Given the description of an element on the screen output the (x, y) to click on. 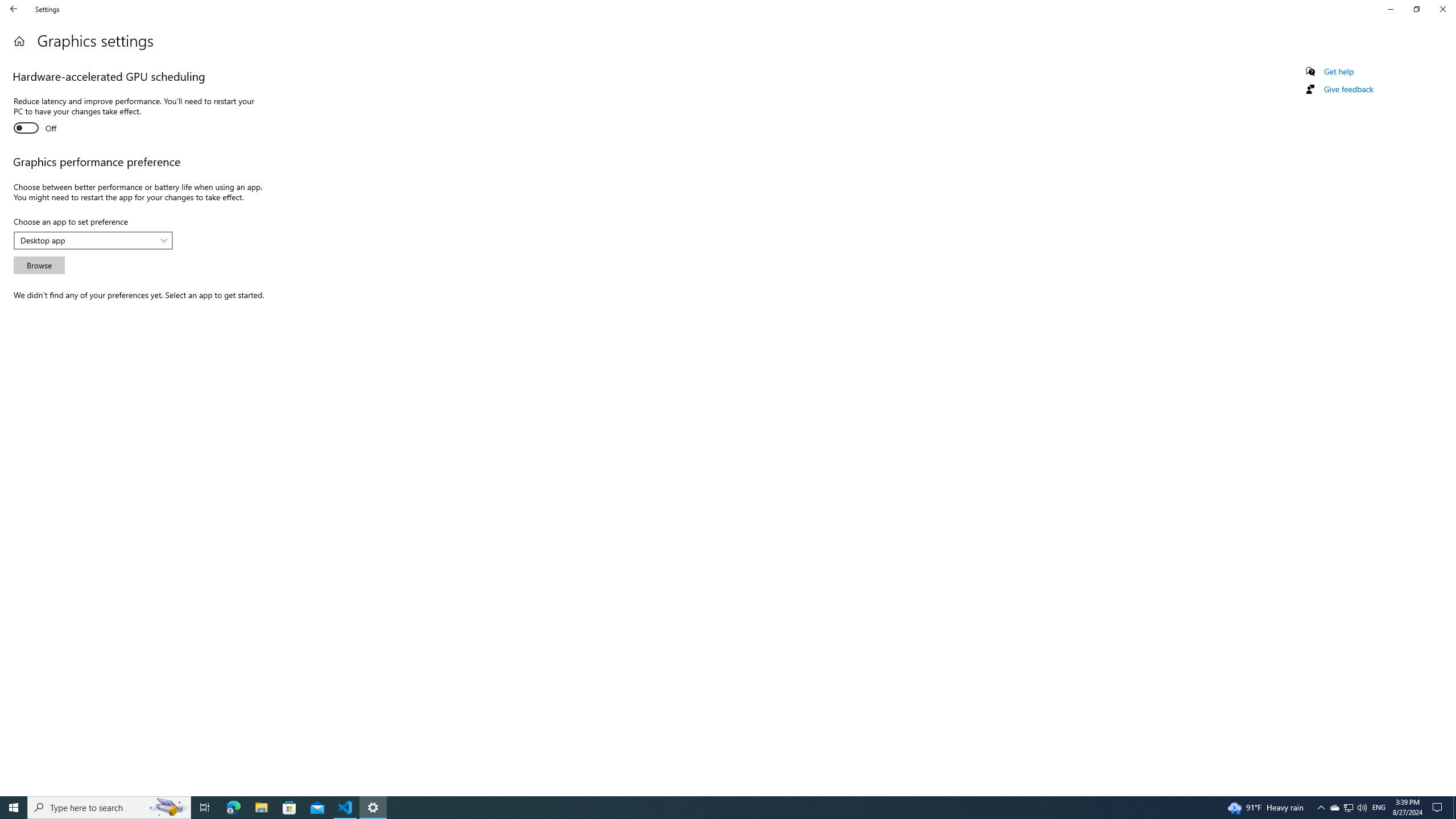
Desktop app (87, 240)
Settings - 1 running window (373, 807)
Choose an app to set preference (93, 240)
Close Settings (1442, 9)
Give feedback (1348, 88)
Minimize Settings (1390, 9)
Browse (39, 265)
